Given the description of an element on the screen output the (x, y) to click on. 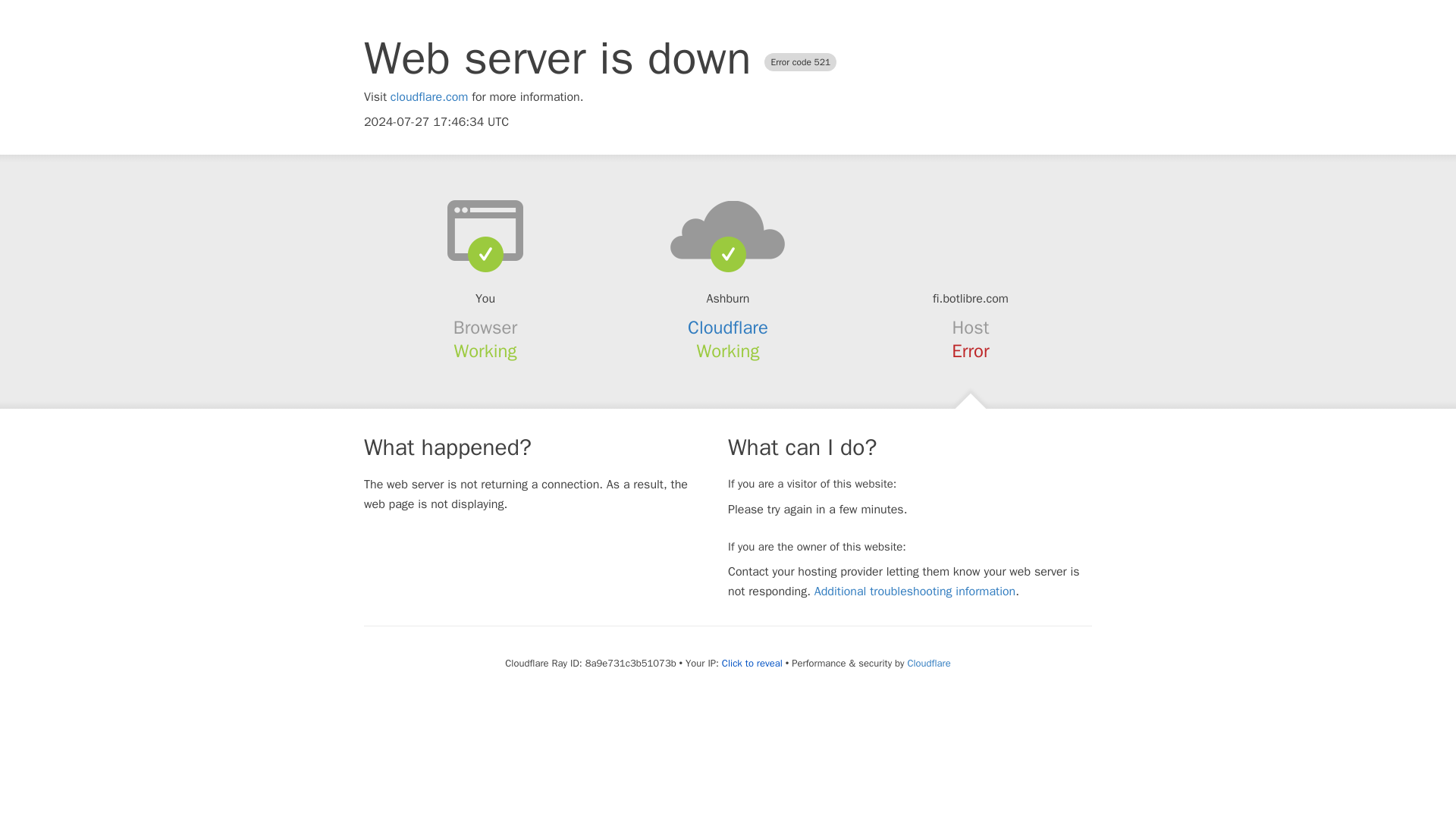
Additional troubleshooting information (913, 590)
Click to reveal (752, 663)
Cloudflare (727, 327)
cloudflare.com (429, 96)
Cloudflare (928, 662)
